Given the description of an element on the screen output the (x, y) to click on. 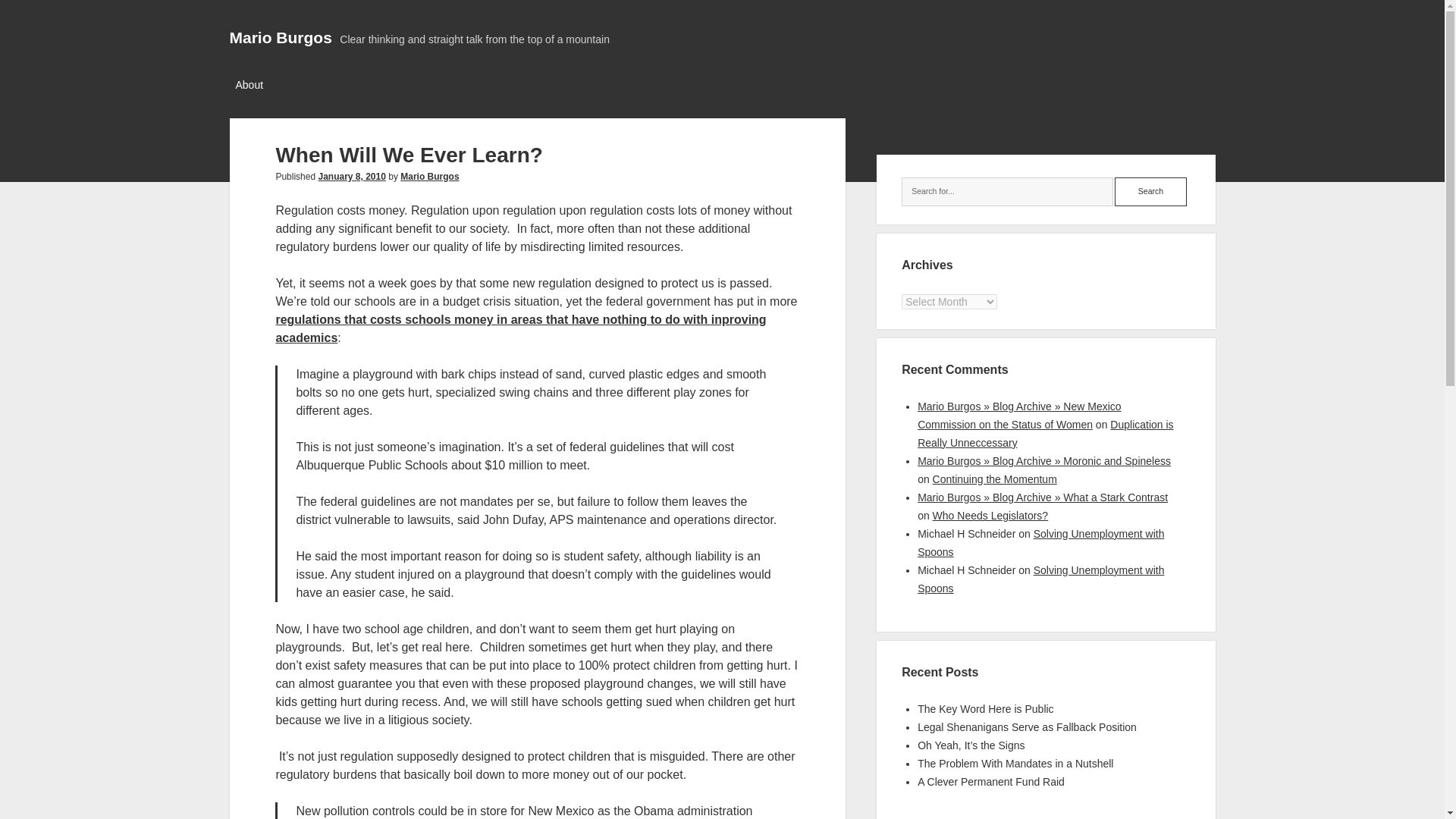
Duplication is Really Unneccessary (1045, 433)
Solving Unemployment with Spoons (1040, 579)
Search (1150, 191)
Legal Shenanigans Serve as Fallback Position (1027, 727)
About (248, 85)
E-mail reporter Hailey Heinz! (534, 765)
E-mail reporter Hailey Heinz! (535, 674)
January 8, 2010 (351, 176)
Continuing the Momentum (995, 479)
